Given the description of an element on the screen output the (x, y) to click on. 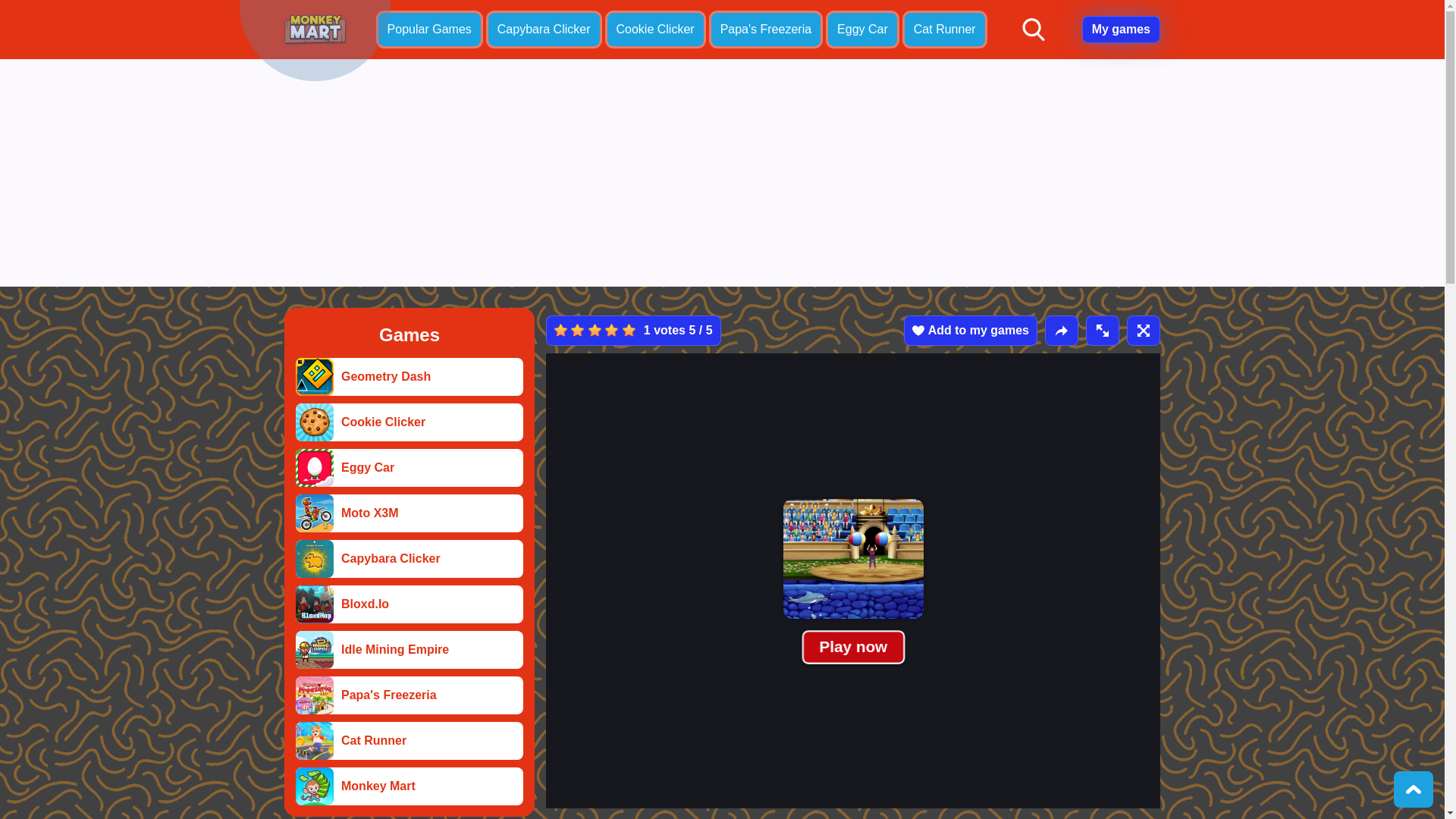
Capybara Clicker (408, 558)
Geometry Dash (408, 376)
Papa's Freezeria (314, 695)
Cat Runner (314, 740)
Idle Mining Empire (314, 649)
Moto X3M (314, 513)
Cookie Clicker (314, 422)
Bloxd.Io (408, 604)
Idle Mining Empire (408, 649)
Eggy Car (408, 467)
Monkey Mart Game (314, 29)
bad (560, 329)
Capybara Clicker (543, 29)
Papa'S Freezeria (408, 695)
